Given the description of an element on the screen output the (x, y) to click on. 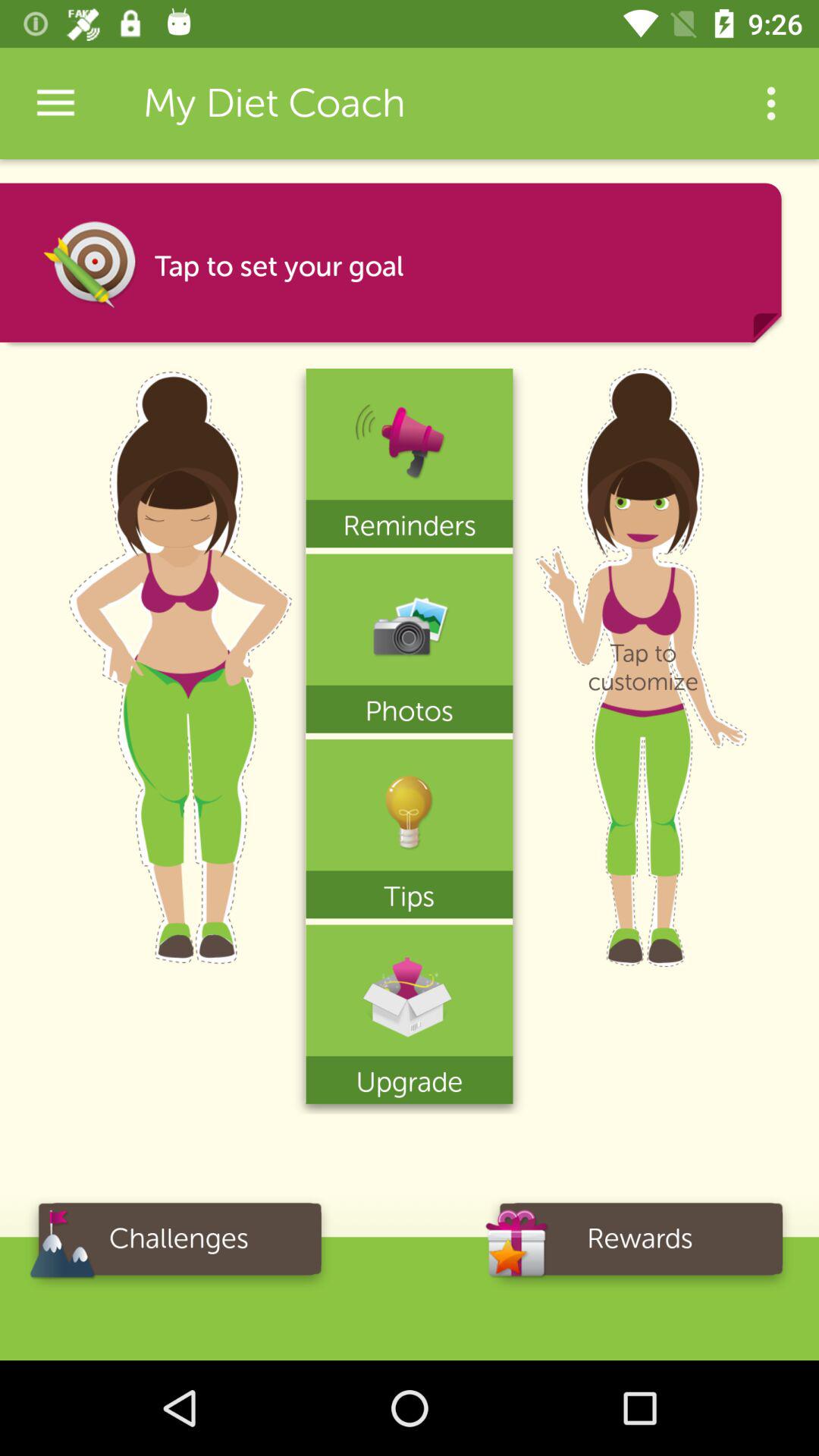
scroll until rewards icon (639, 1243)
